Given the description of an element on the screen output the (x, y) to click on. 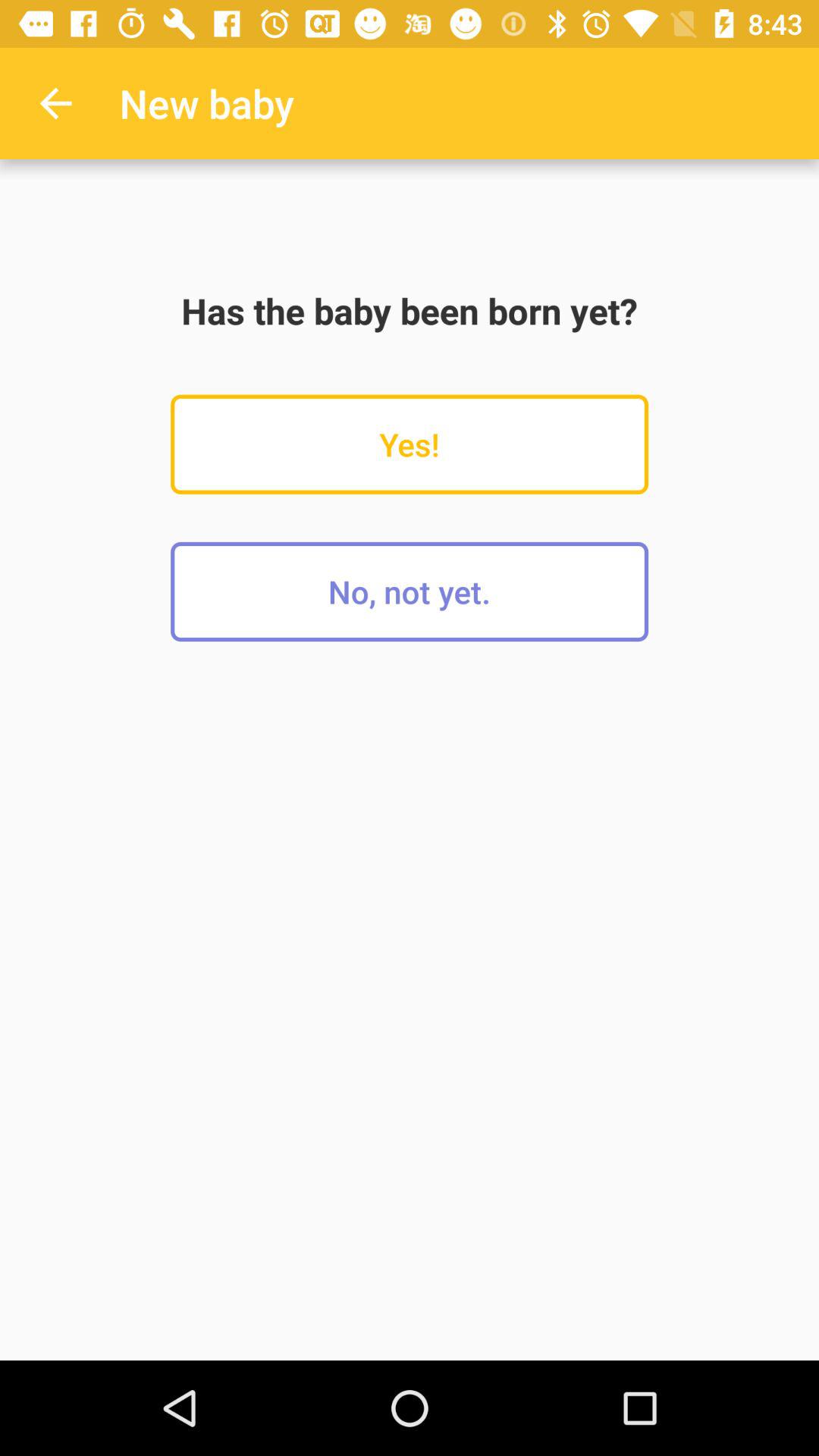
swipe until the no, not yet. item (409, 591)
